Given the description of an element on the screen output the (x, y) to click on. 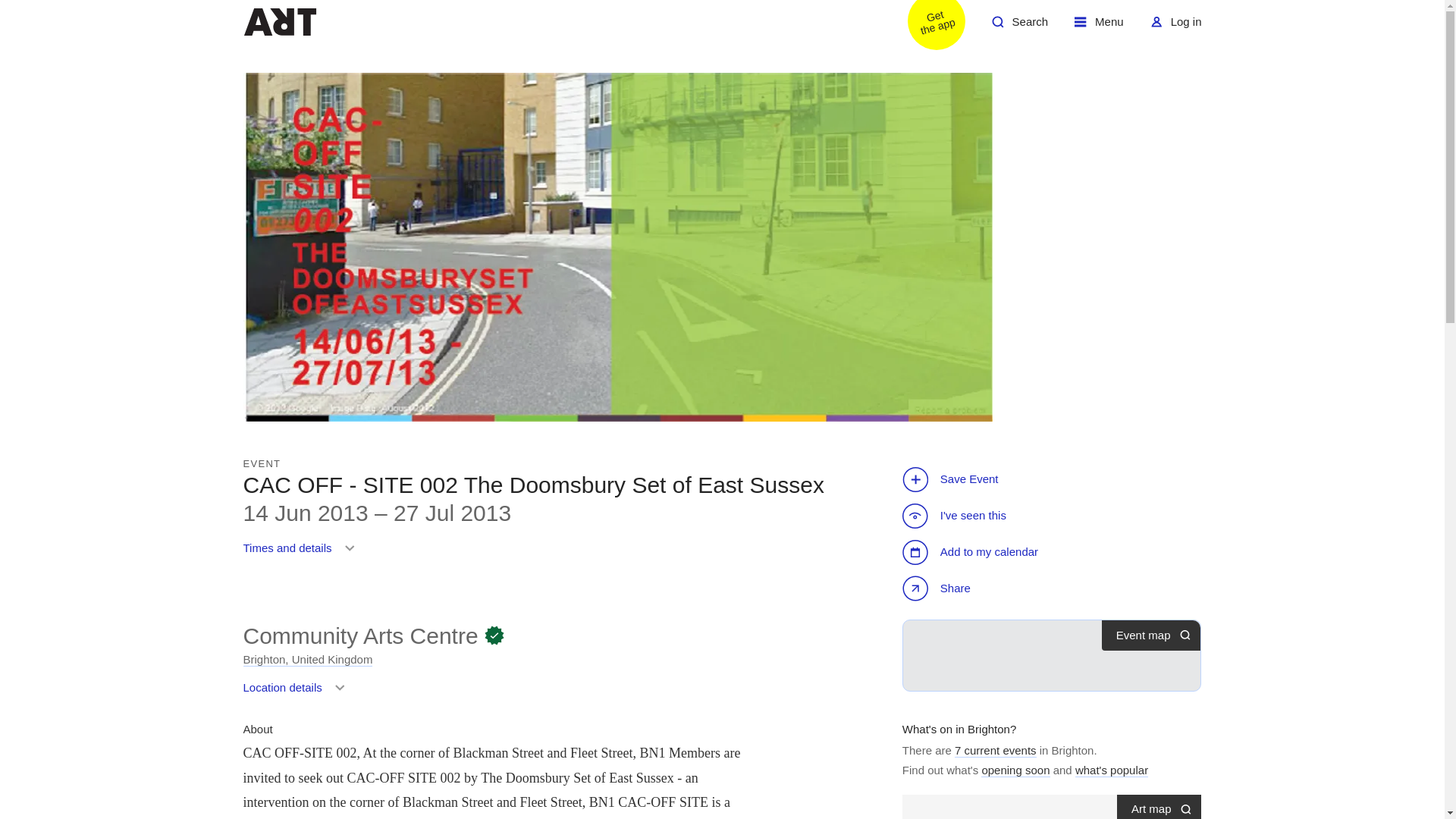
Community Arts Centre (360, 635)
Share (302, 553)
7 current events (926, 27)
Brighton, United Kingdom (297, 692)
opening soon (938, 589)
What's on in Brighton? (995, 750)
Welcome to ArtRabbit (307, 659)
what's popular (1015, 770)
Add to my calendar (1019, 26)
